Given the description of an element on the screen output the (x, y) to click on. 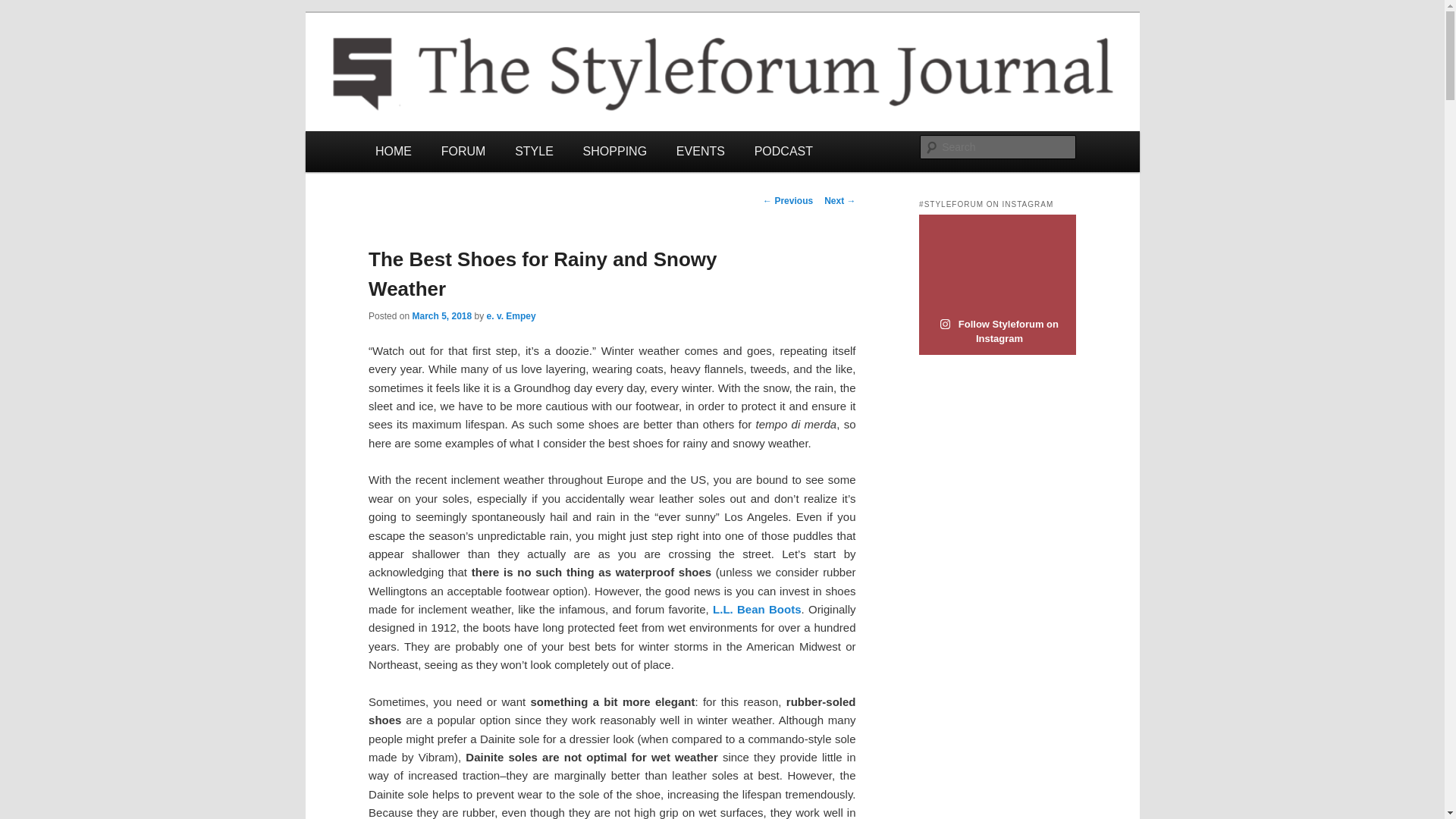
4:16 pm (441, 316)
PODCAST (783, 151)
EVENTS (700, 151)
HOME (393, 151)
March 5, 2018 (441, 316)
STYLE (533, 151)
L.L. Bean Boots (756, 608)
FORUM (462, 151)
The Styleforum Journal (495, 67)
